Given the description of an element on the screen output the (x, y) to click on. 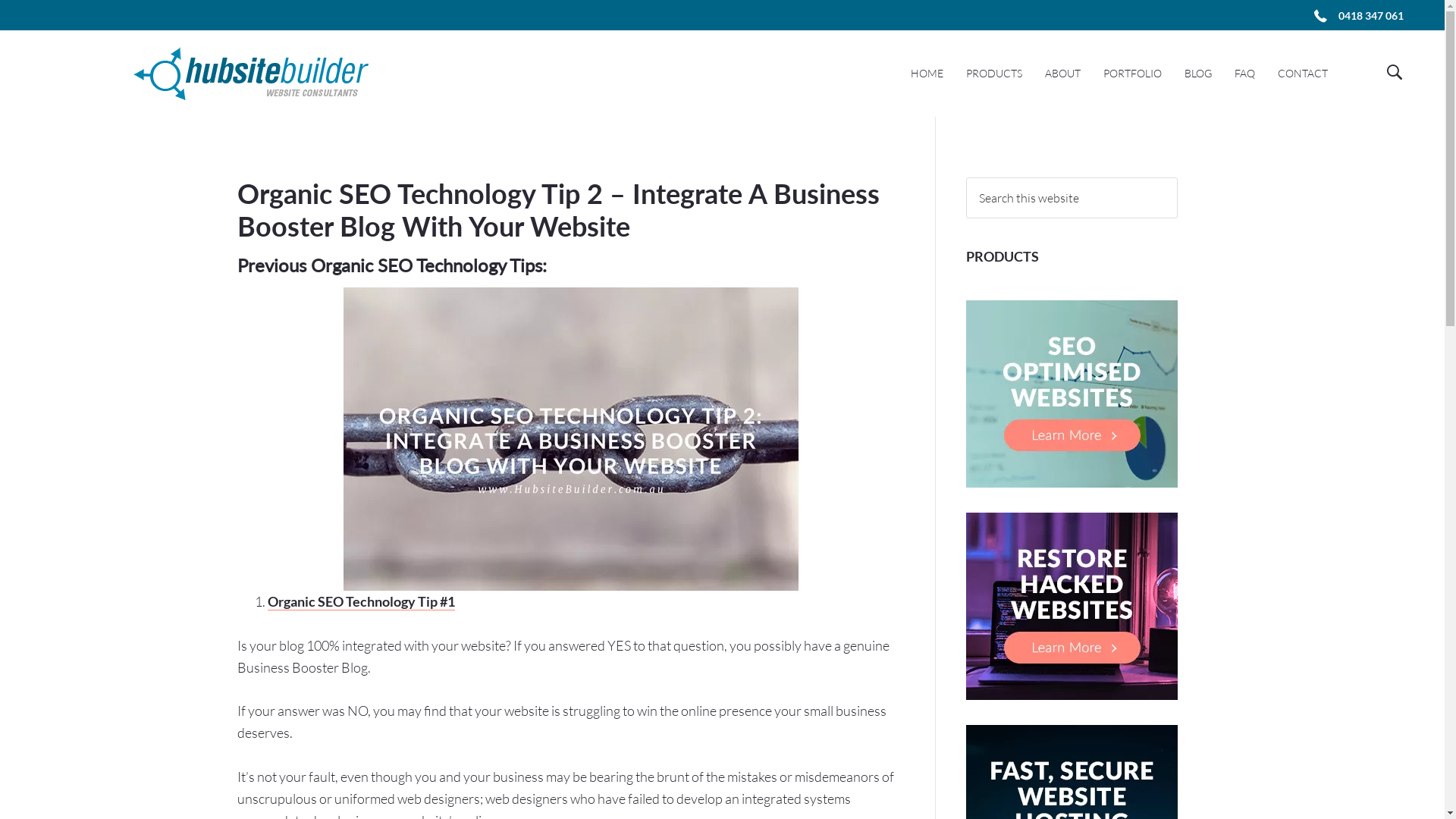
Organic SEO Technology Tip #1 Element type: text (360, 601)
hubsite-builder-website-consultants-logo Element type: hover (250, 73)
ABOUT Element type: text (1062, 73)
PRODUCTS Element type: text (993, 73)
0418 347 061 Element type: text (1370, 16)
Search Element type: text (1176, 176)
PORTFOLIO Element type: text (1132, 73)
FAQ Element type: text (1244, 73)
CONTACT Element type: text (1302, 73)
BLOG Element type: text (1198, 73)
HOME Element type: text (926, 73)
